Given the description of an element on the screen output the (x, y) to click on. 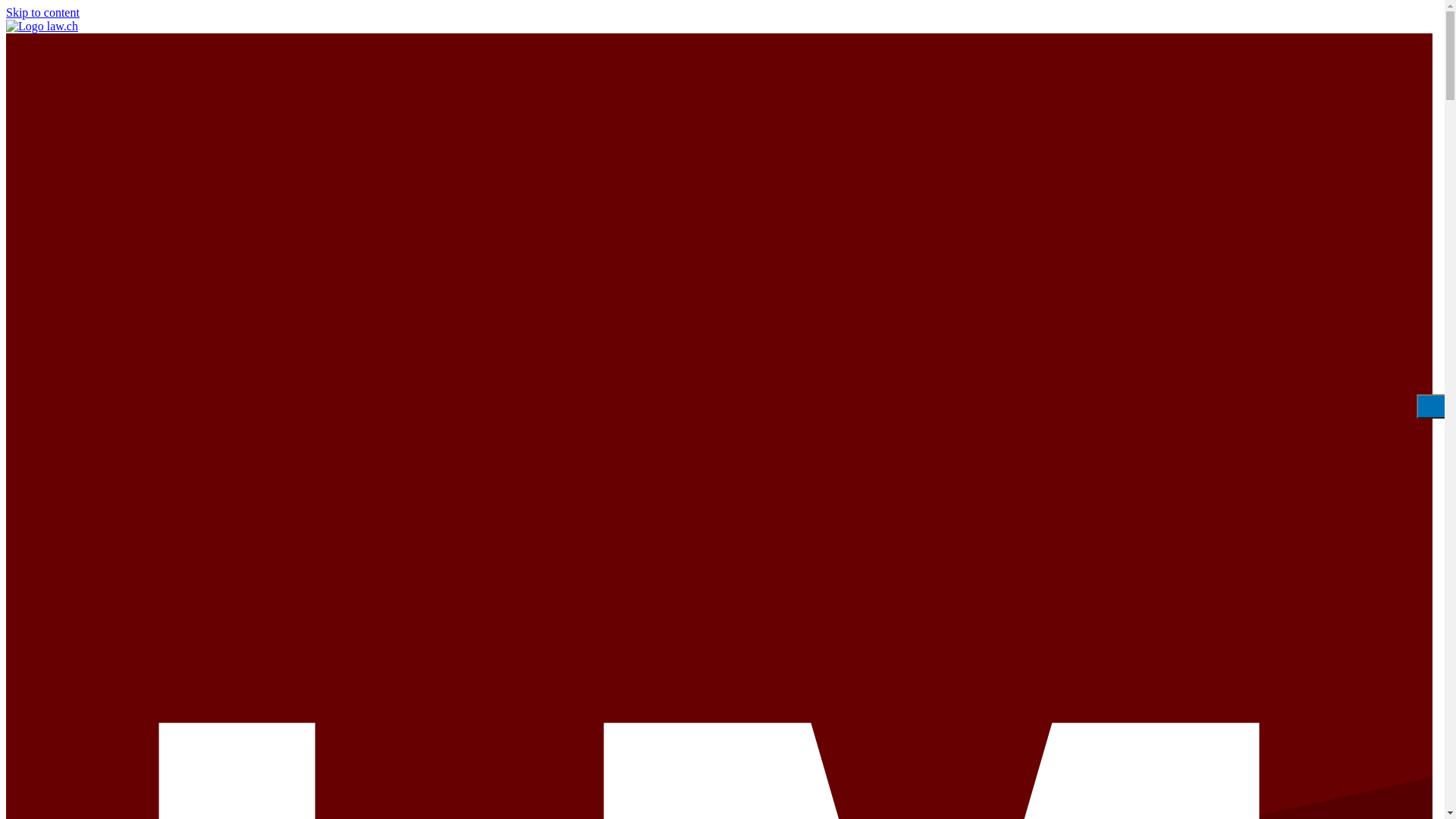
Skip to content Element type: text (42, 12)
